Given the description of an element on the screen output the (x, y) to click on. 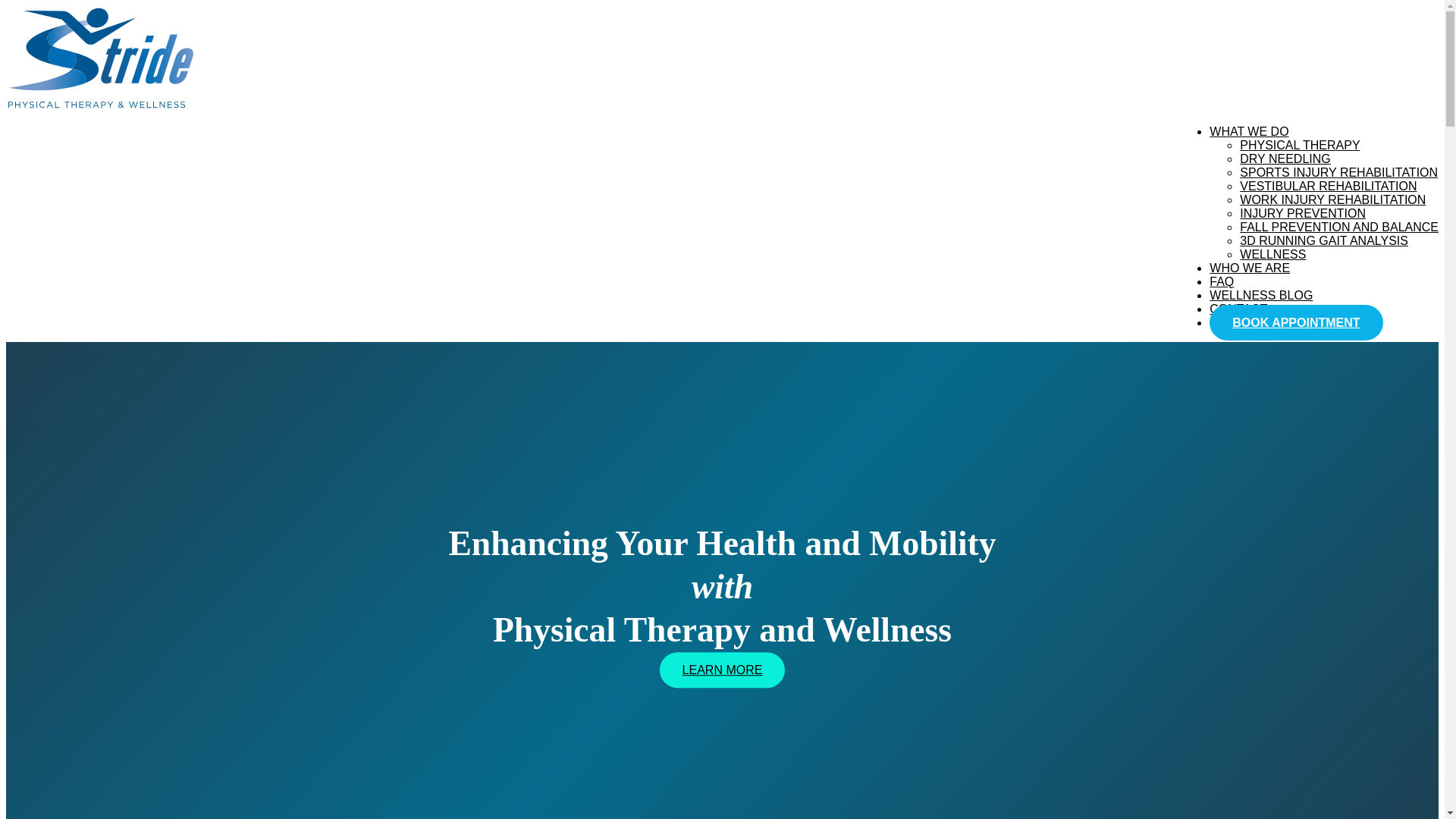
PHYSICAL THERAPY (1299, 144)
WELLNESS BLOG (1261, 295)
BOOK APPOINTMENT (1295, 322)
WHO WE ARE (1249, 267)
WELLNESS (1273, 254)
CONTACT (1237, 308)
LEARN MORE (722, 669)
VESTIBULAR REHABILITATION (1328, 185)
INJURY PREVENTION (1302, 213)
3D RUNNING GAIT ANALYSIS (1323, 240)
